Given the description of an element on the screen output the (x, y) to click on. 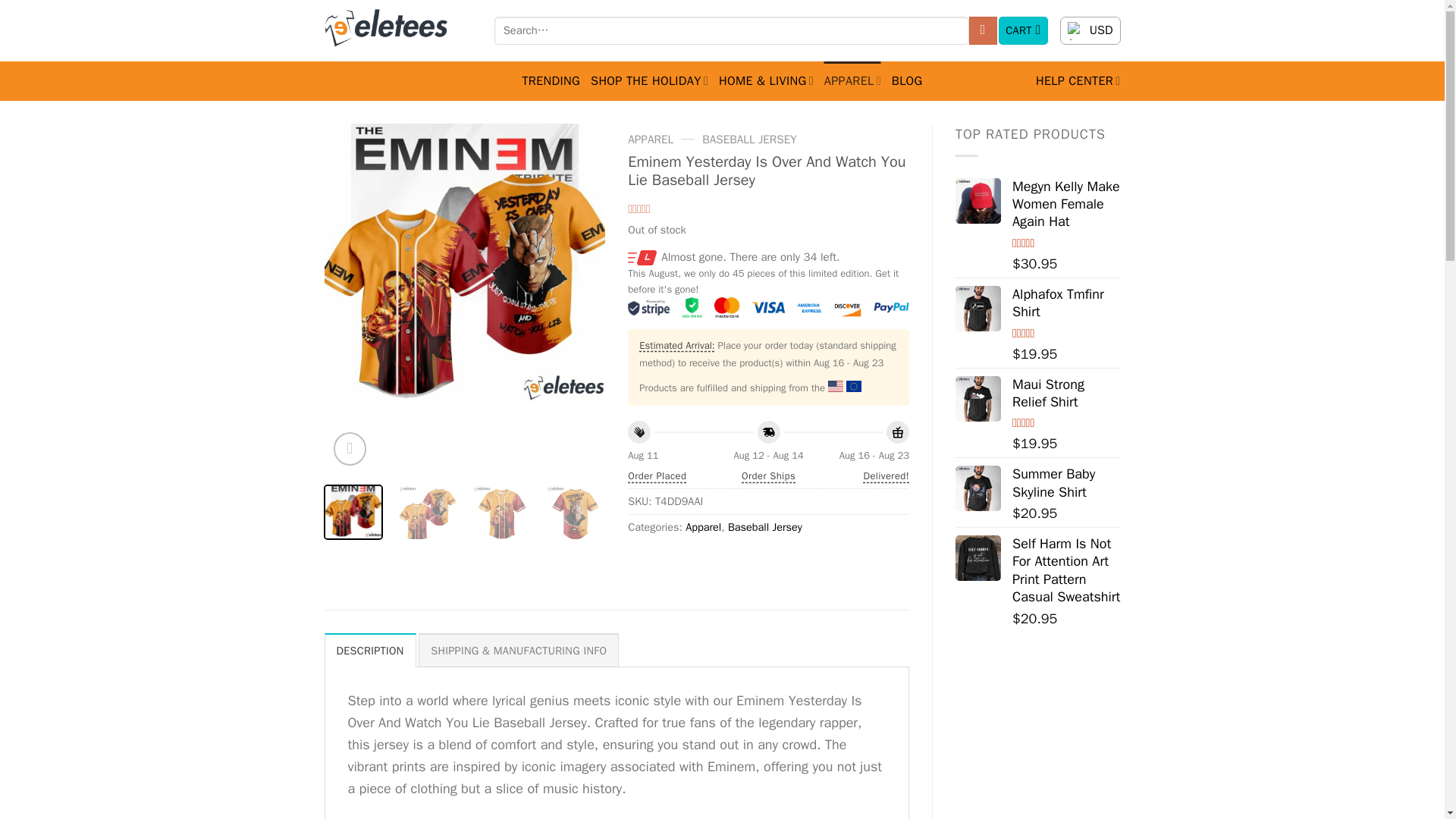
Eletees - Clothes that make a statement (397, 30)
CART (1023, 30)
Summer Baby Skyline Shirt (978, 488)
Cart (1023, 30)
Maui Strong Relief Shirt (978, 398)
Alphafox Tmfinr Shirt (978, 308)
APPAREL (852, 80)
Megyn Kelly Make Women Female Again Hat (978, 200)
TRENDING (550, 80)
